Given the description of an element on the screen output the (x, y) to click on. 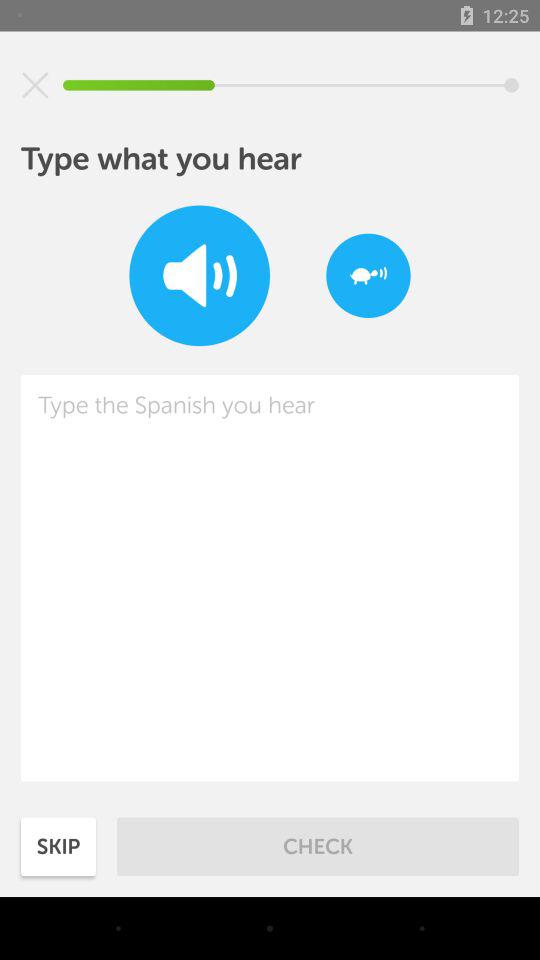
press item above the type what you (35, 85)
